Given the description of an element on the screen output the (x, y) to click on. 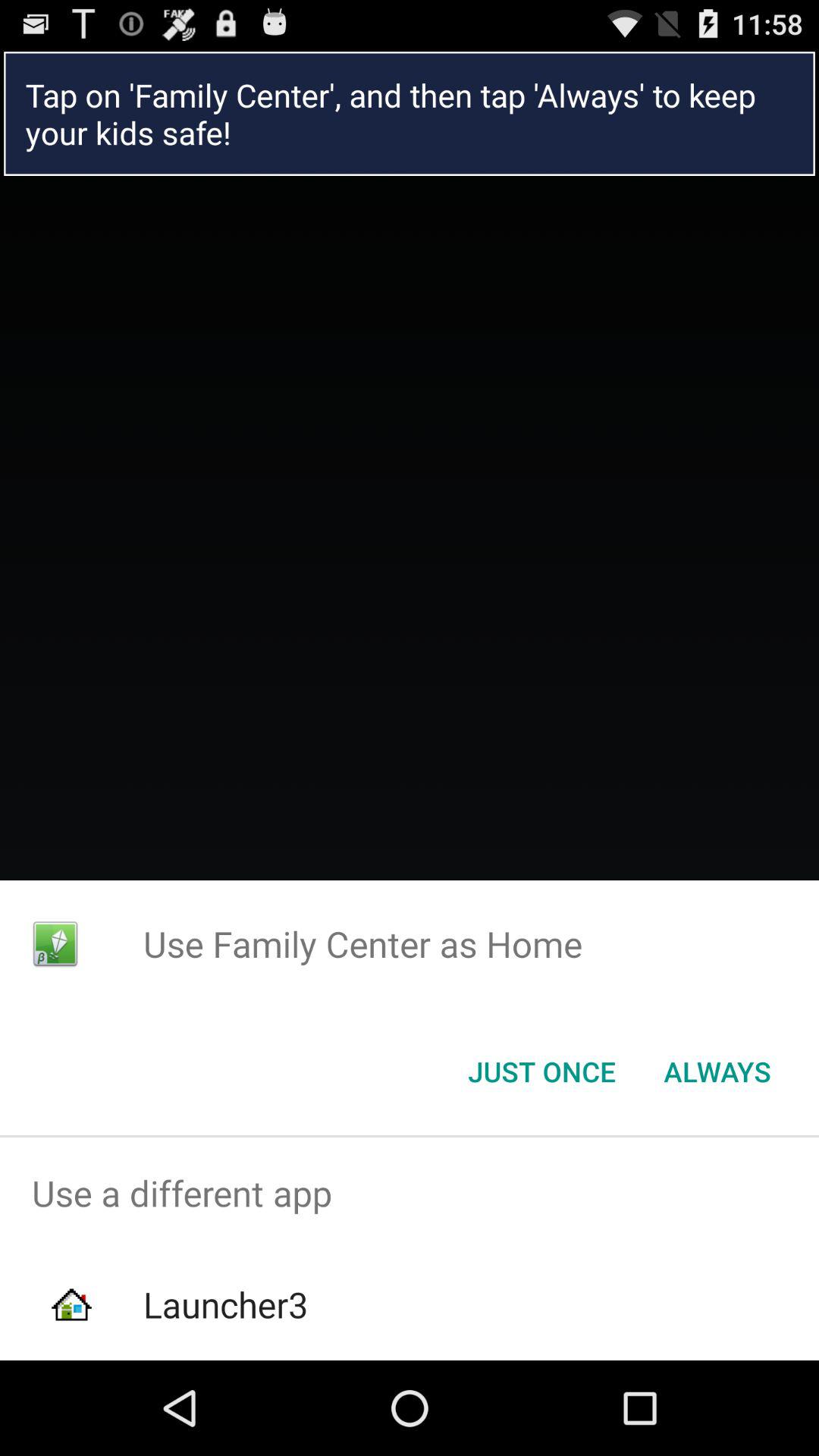
click item below use family center item (541, 1071)
